Given the description of an element on the screen output the (x, y) to click on. 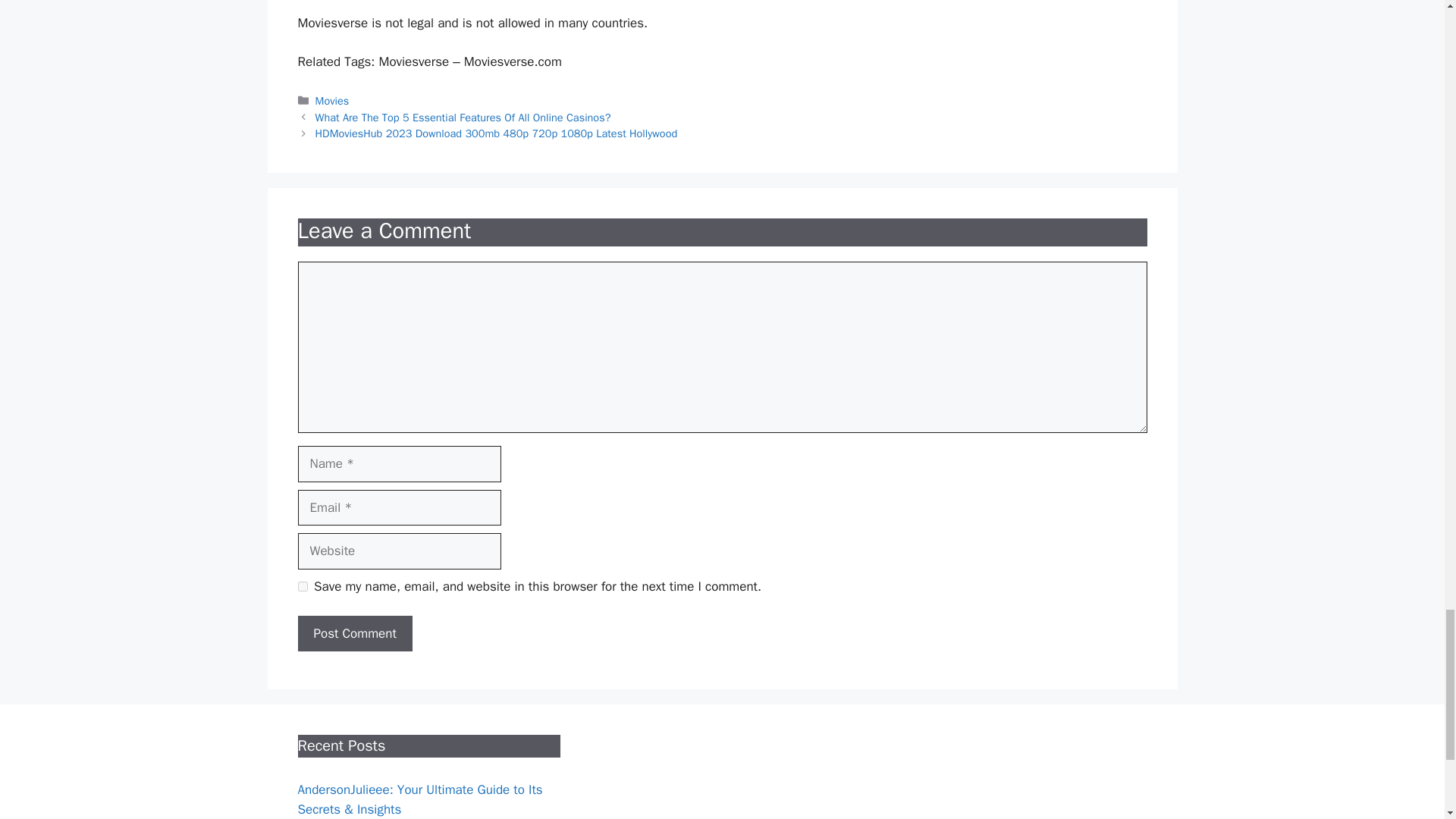
Post Comment (354, 633)
Post Comment (354, 633)
Movies (332, 100)
What Are The Top 5 Essential Features Of All Online Casinos? (463, 117)
yes (302, 586)
